Given the description of an element on the screen output the (x, y) to click on. 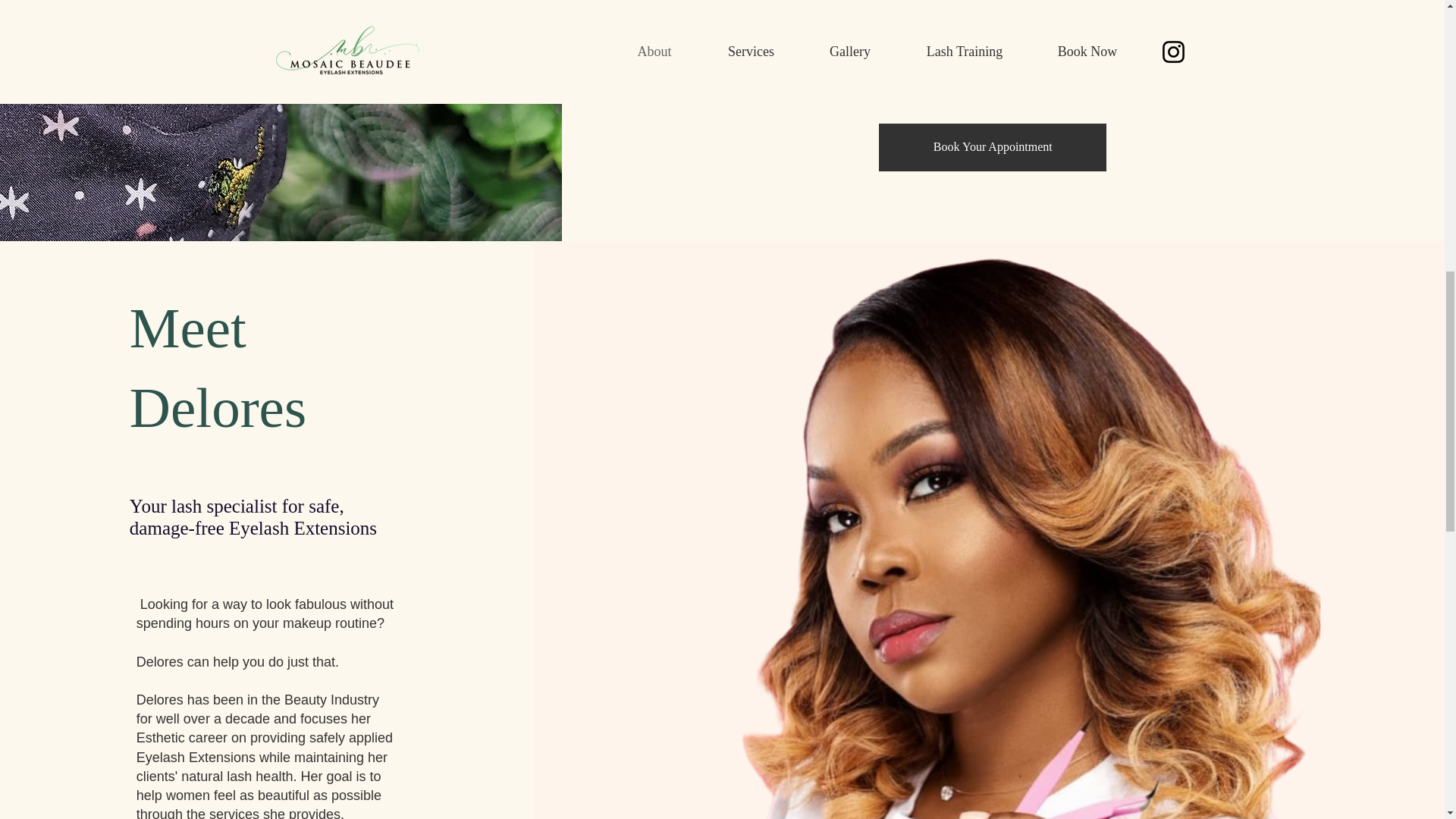
Book Your Appointment (992, 147)
